Given the description of an element on the screen output the (x, y) to click on. 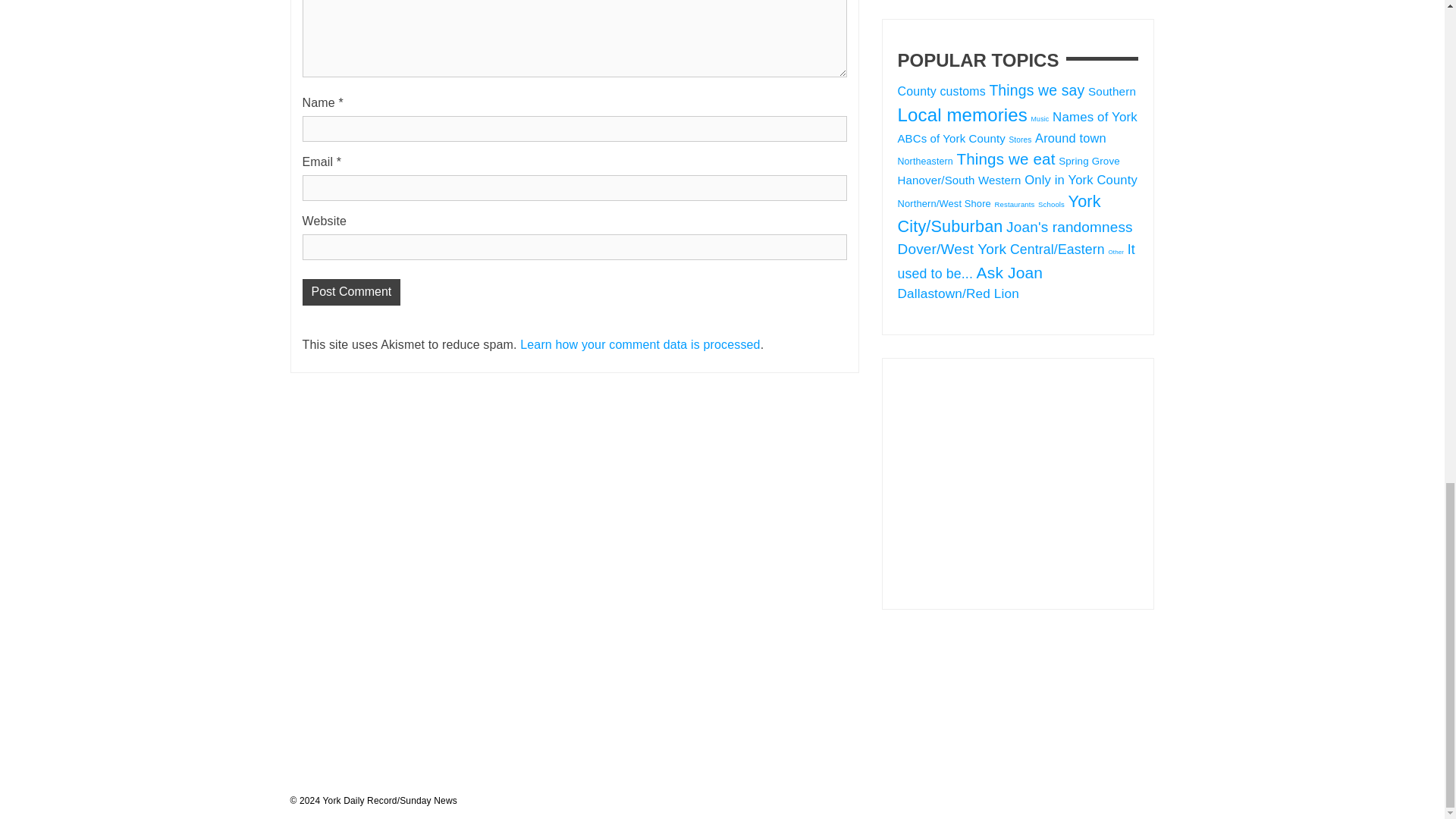
Post Comment (350, 292)
County customs (941, 91)
Northeastern (925, 161)
Things we eat (1005, 158)
Around town (1070, 137)
Learn how your comment data is processed (639, 344)
ABCs of York County (952, 137)
Southern (1111, 91)
Names of York (1094, 116)
Post Comment (350, 292)
Things we say (1036, 89)
Music (1039, 118)
Local memories (962, 114)
Stores (1019, 139)
